Given the description of an element on the screen output the (x, y) to click on. 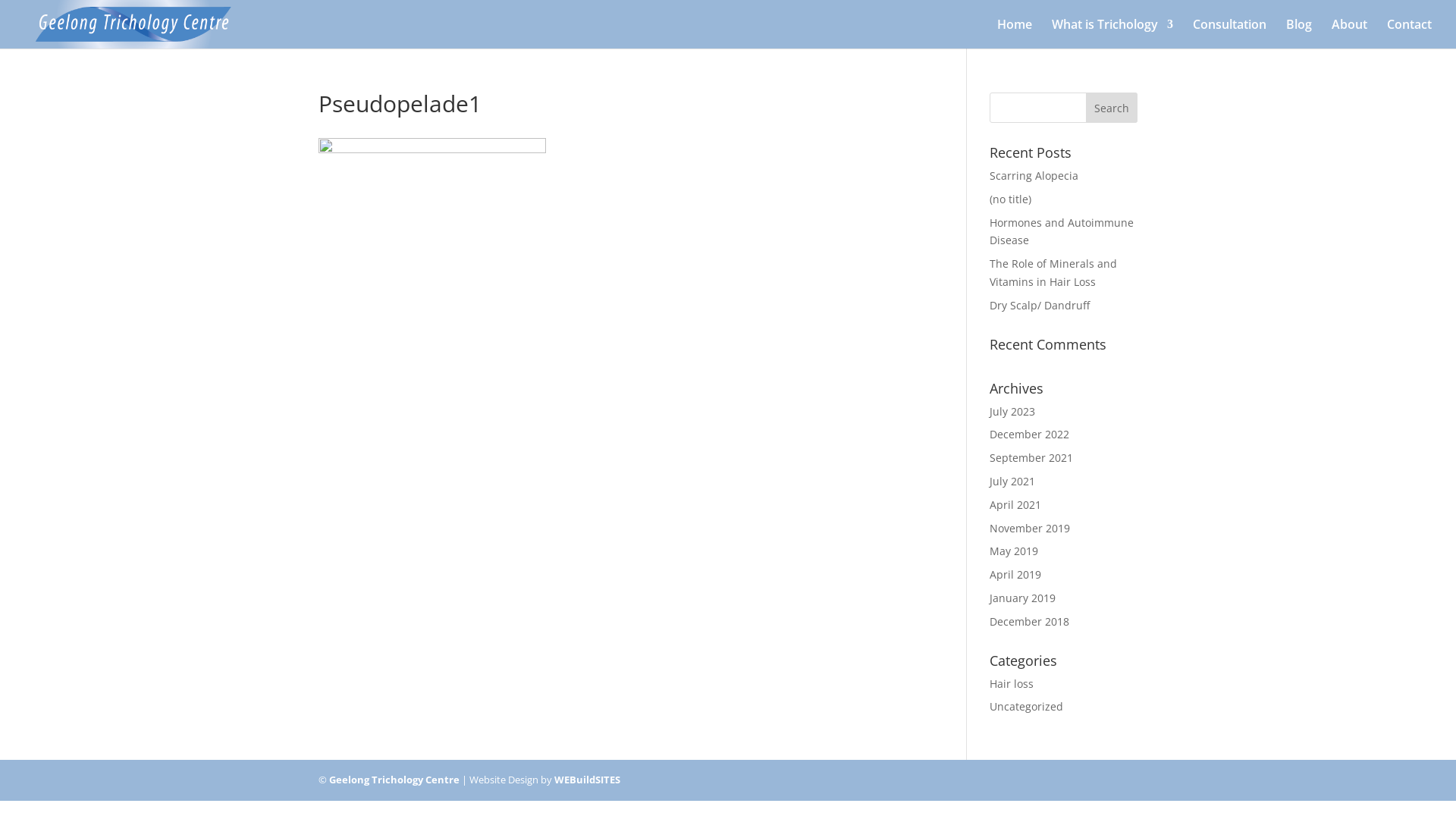
About Element type: text (1349, 33)
July 2023 Element type: text (1012, 411)
January 2019 Element type: text (1022, 597)
The Role of Minerals and Vitamins in Hair Loss Element type: text (1053, 272)
May 2019 Element type: text (1013, 550)
November 2019 Element type: text (1029, 527)
April 2019 Element type: text (1015, 574)
Consultation Element type: text (1229, 33)
December 2022 Element type: text (1029, 433)
September 2021 Element type: text (1031, 457)
Scarring Alopecia Element type: text (1033, 175)
Blog Element type: text (1298, 33)
Home Element type: text (1014, 33)
July 2021 Element type: text (1012, 480)
WEBuildSITES Element type: text (587, 779)
What is Trichology Element type: text (1112, 33)
Hormones and Autoimmune Disease Element type: text (1061, 231)
Search Element type: text (1111, 107)
Contact Element type: text (1408, 33)
April 2021 Element type: text (1015, 504)
Uncategorized Element type: text (1026, 706)
December 2018 Element type: text (1029, 621)
Dry Scalp/ Dandruff Element type: text (1039, 305)
Geelong Trichology Centre Element type: text (394, 779)
(no title) Element type: text (1010, 198)
Hair loss Element type: text (1011, 683)
